Given the description of an element on the screen output the (x, y) to click on. 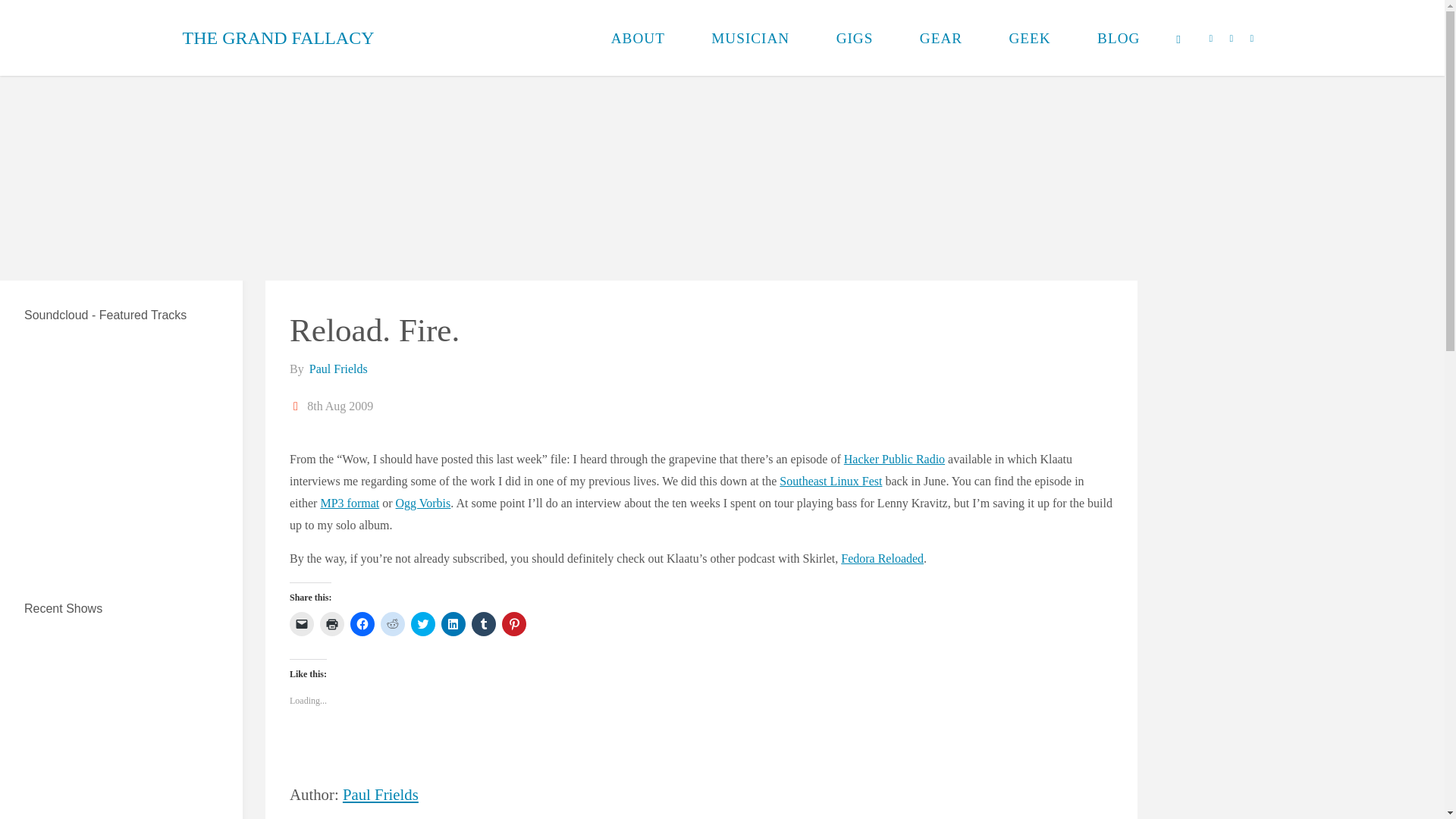
Paul Frields (337, 368)
Click to share on Twitter (422, 623)
Click to share on Facebook (362, 623)
Hacker Public Radio (894, 459)
Click to share on Pinterest (513, 623)
Click to print (331, 623)
GEEK (1029, 38)
Southeast Linux Fest (830, 481)
MP3 format (349, 502)
Click to share on LinkedIn (453, 623)
